Given the description of an element on the screen output the (x, y) to click on. 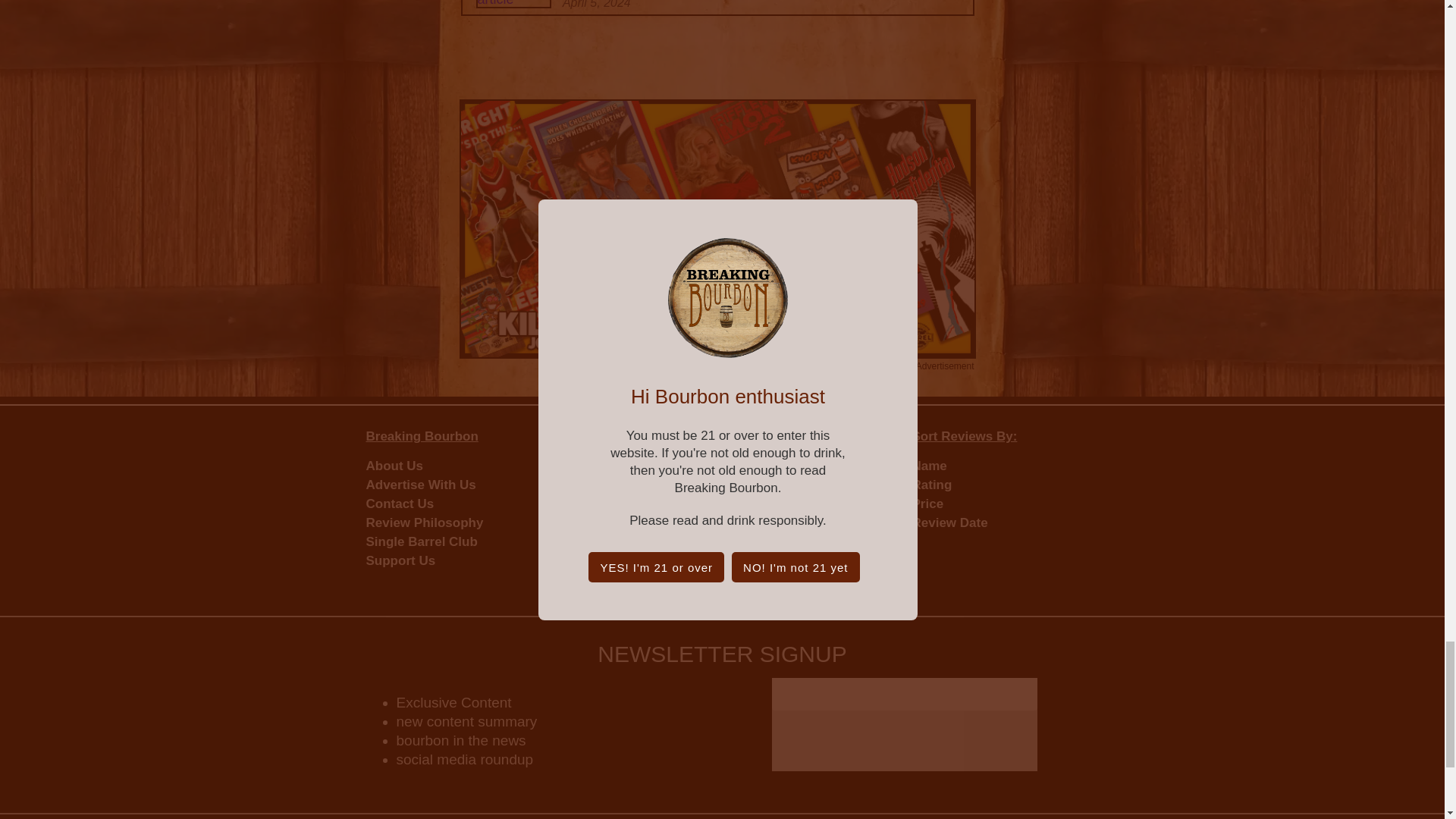
Newsletter Signup (903, 724)
